Given the description of an element on the screen output the (x, y) to click on. 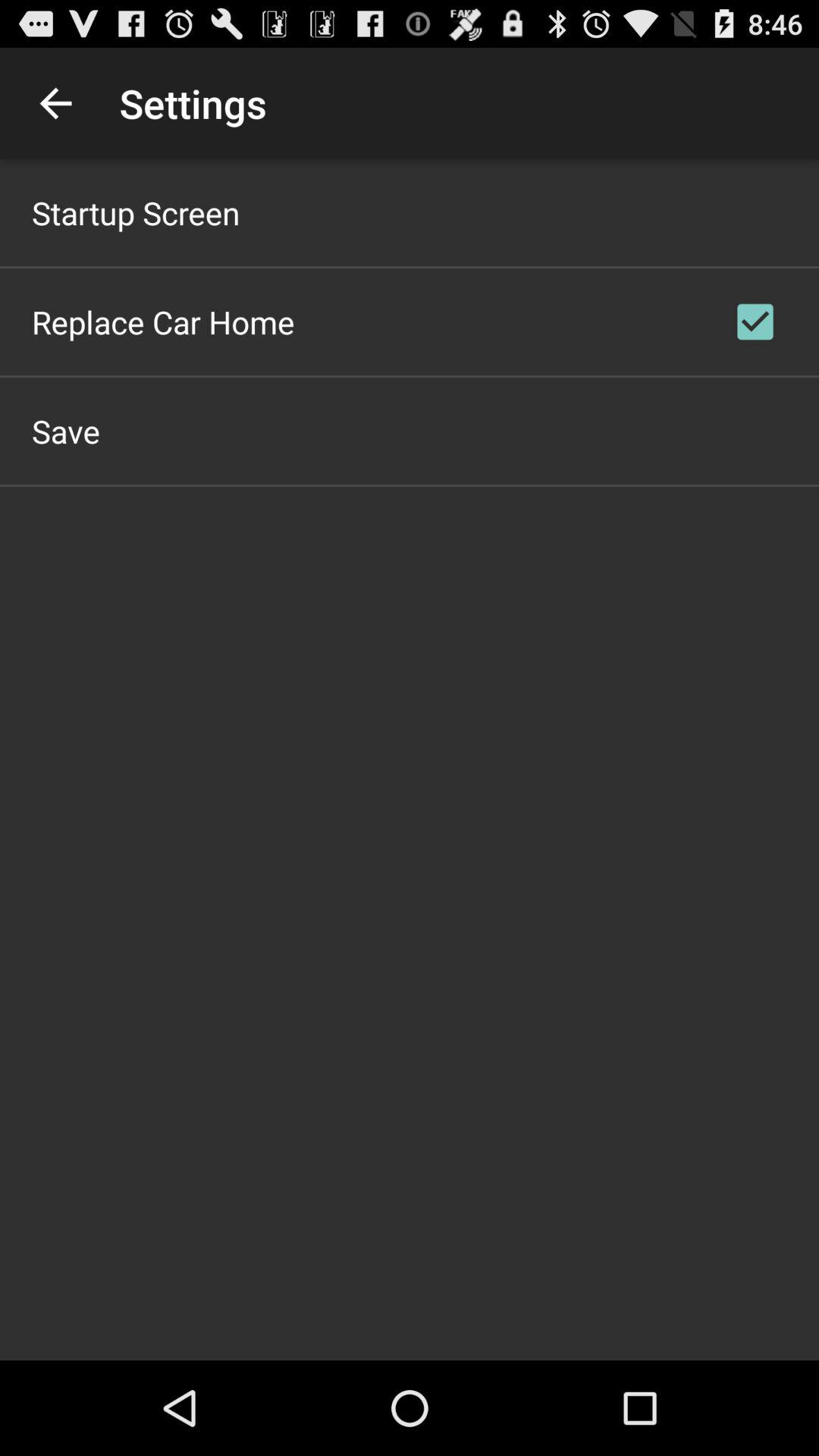
flip until the replace car home item (162, 321)
